Given the description of an element on the screen output the (x, y) to click on. 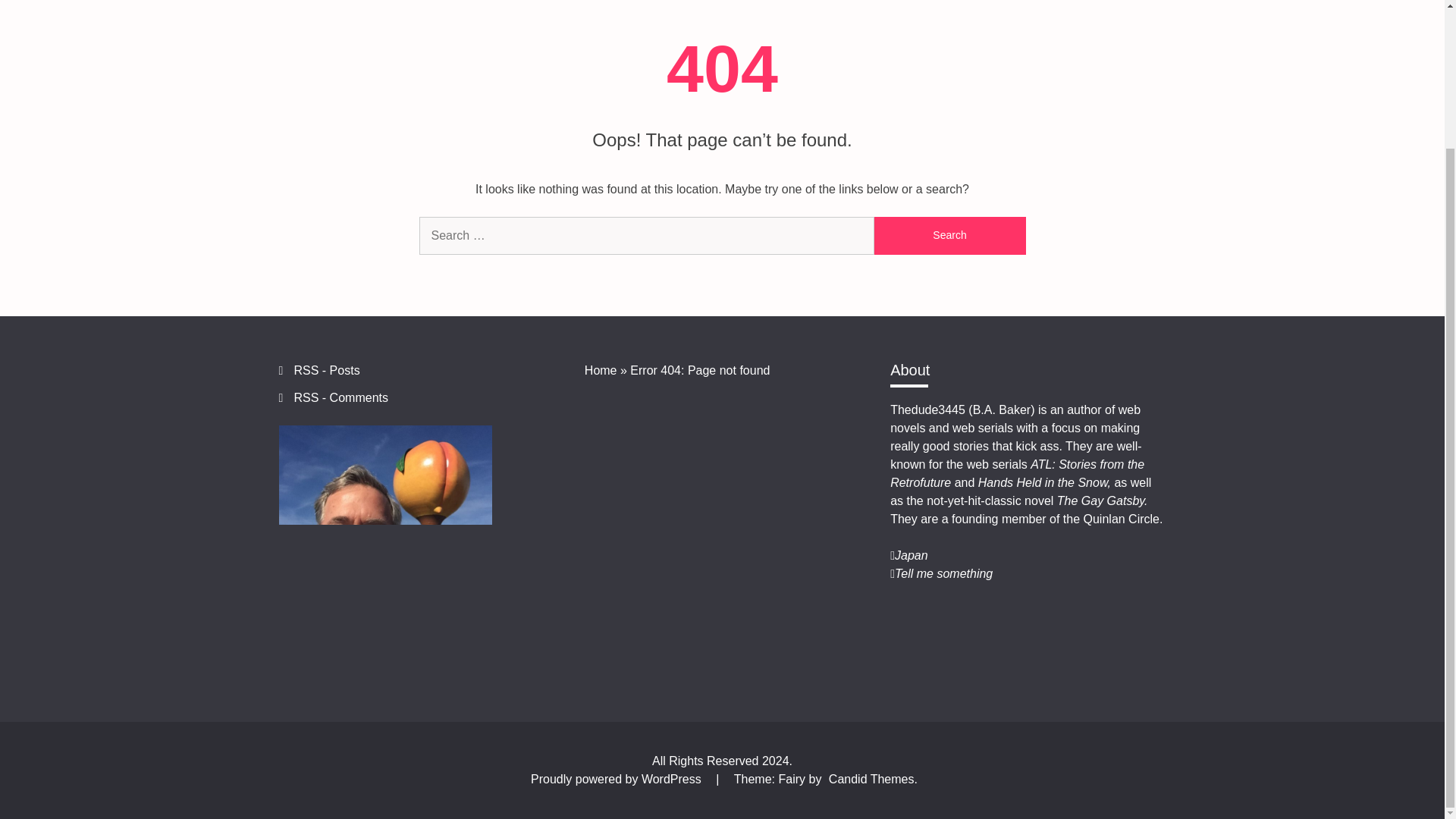
RSS - Comments (341, 397)
Tell me something (943, 573)
Candid Themes (871, 779)
Subscribe to posts (326, 369)
Proudly powered by WordPress (617, 779)
Search (949, 235)
Search (949, 235)
RSS - Posts (326, 369)
Search (949, 235)
Subscribe to comments (341, 397)
